Given the description of an element on the screen output the (x, y) to click on. 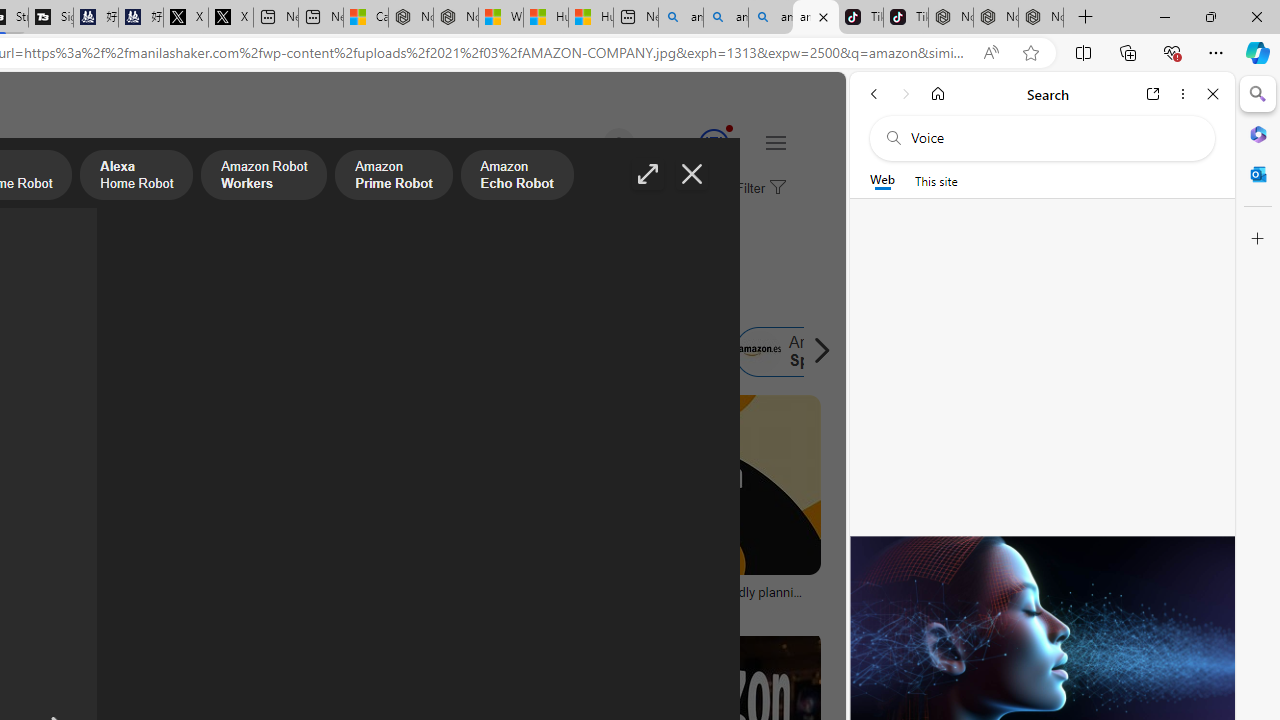
Search the web (1051, 137)
amazon - Search Images (815, 17)
Amazon Prime Membership (44, 351)
logopng.com.br (63, 605)
Full screen (648, 173)
Image result for amazon (685, 485)
